Given the description of an element on the screen output the (x, y) to click on. 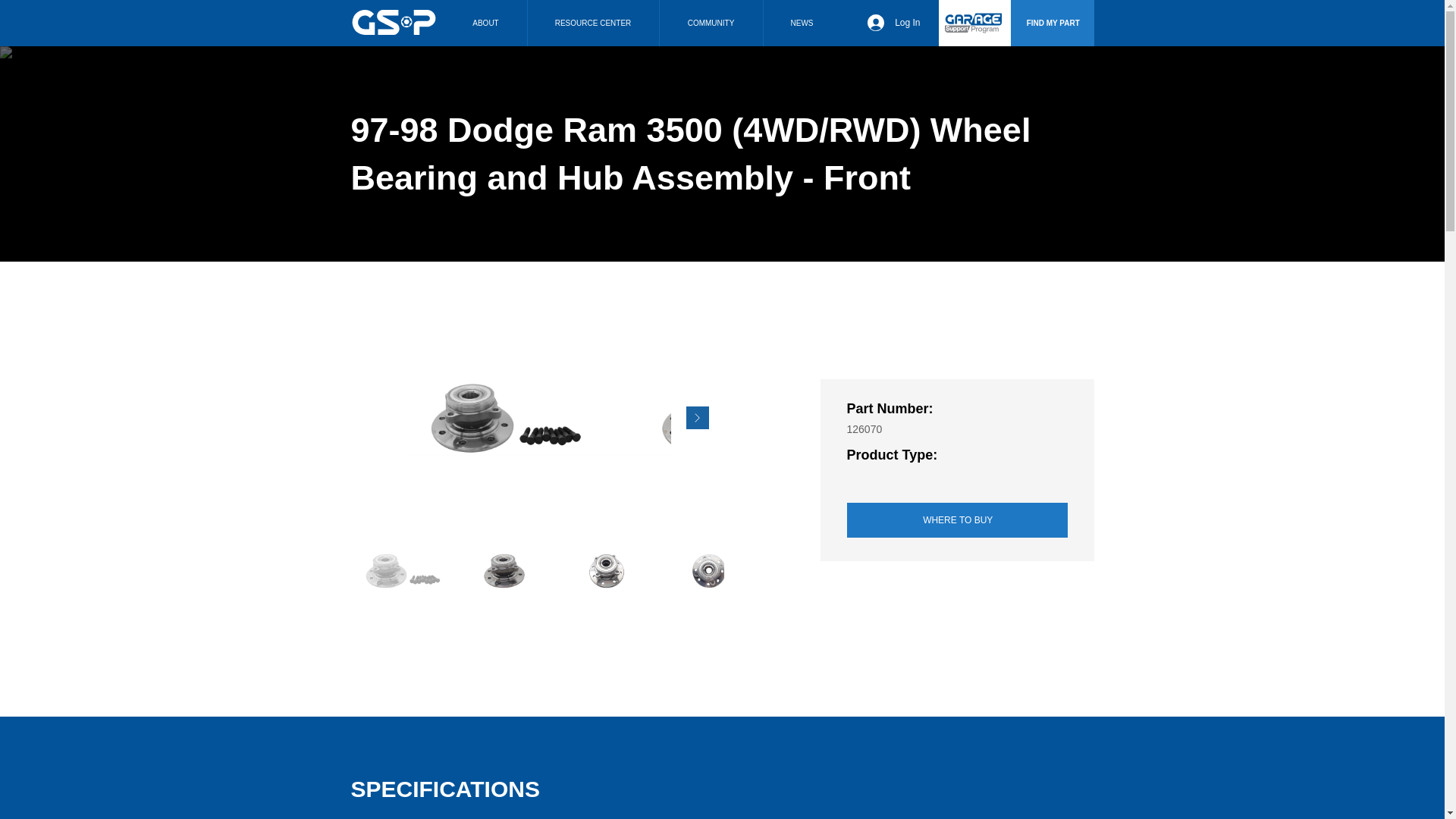
Log In (893, 22)
NEWS (801, 22)
COMMUNITY (709, 22)
ABOUT (484, 22)
WHERE TO BUY (956, 519)
RESOURCE CENTER (591, 22)
FIND MY PART (1051, 22)
